Given the description of an element on the screen output the (x, y) to click on. 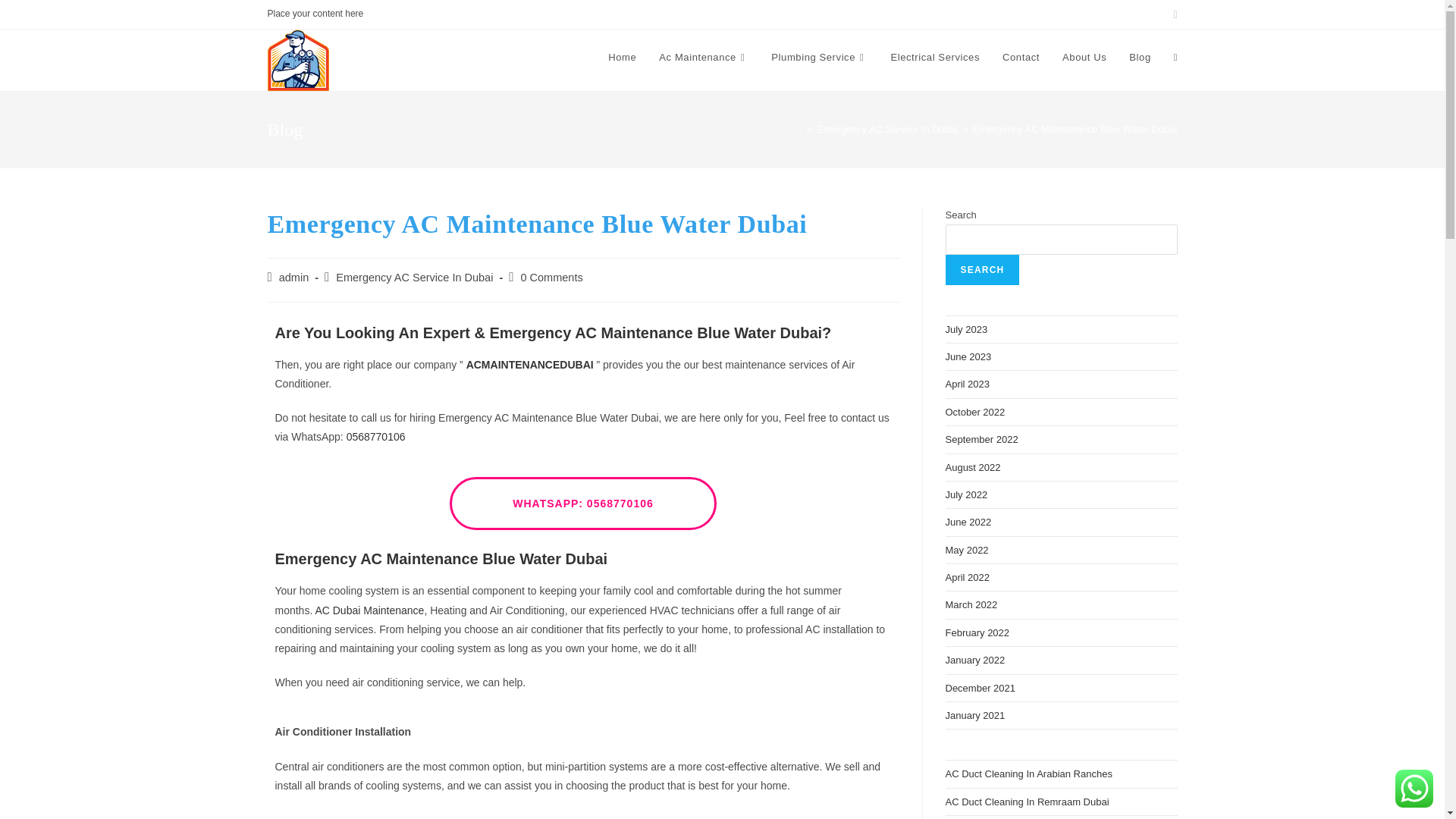
Electrical Services (935, 57)
Home (621, 57)
Posts by admin (293, 277)
Plumbing Service (819, 57)
Contact (1021, 57)
About Us (1084, 57)
Ac Maintenance (703, 57)
